Given the description of an element on the screen output the (x, y) to click on. 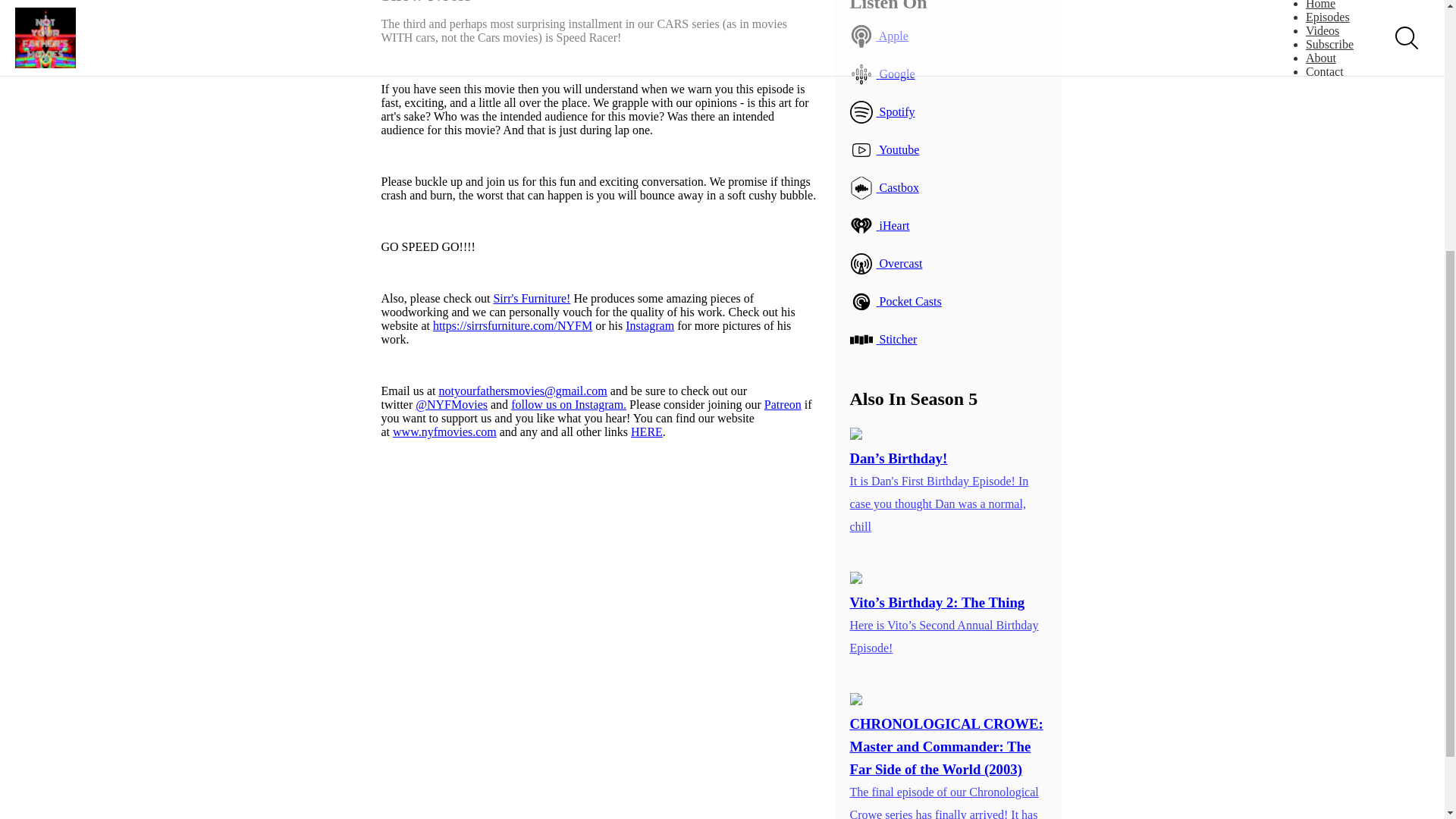
Apple (947, 36)
Sirr's Furniture! (531, 297)
Instagram (650, 325)
Google (947, 74)
Spotify (947, 111)
follow us on Instagram. (568, 404)
www.nyfmovies.com (444, 431)
Patreon (783, 404)
HERE (646, 431)
